Given the description of an element on the screen output the (x, y) to click on. 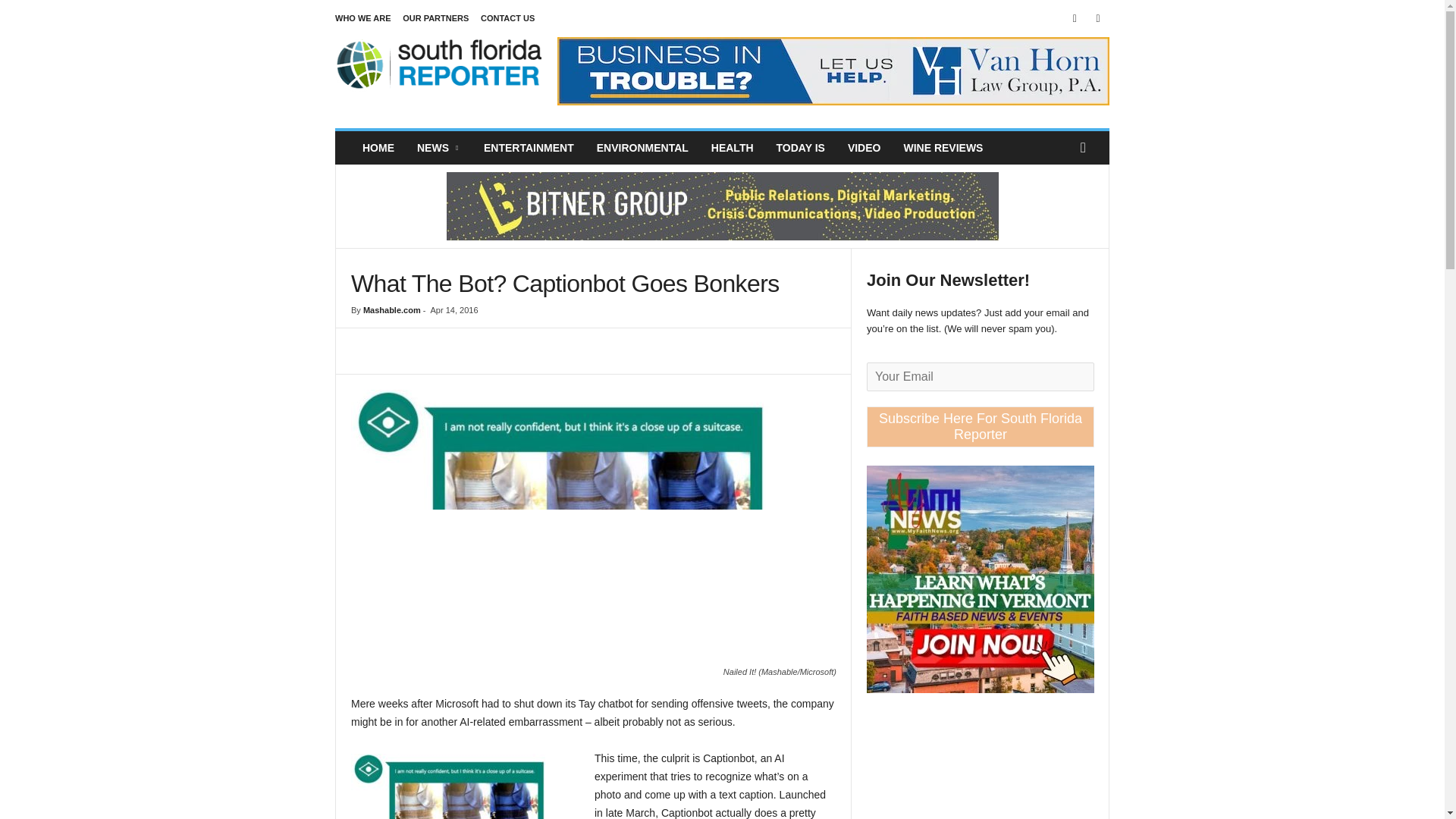
ENVIRONMENTAL (642, 147)
OUR PARTNERS (435, 17)
Mashable.com (391, 309)
HOME (378, 147)
NEWS (438, 147)
WHO WE ARE (362, 17)
HEALTH (732, 147)
South Florida Reporter (437, 70)
WINE REVIEWS (942, 147)
VIDEO (863, 147)
Twitter (1097, 18)
TODAY IS (800, 147)
ENTERTAINMENT (528, 147)
